Given the description of an element on the screen output the (x, y) to click on. 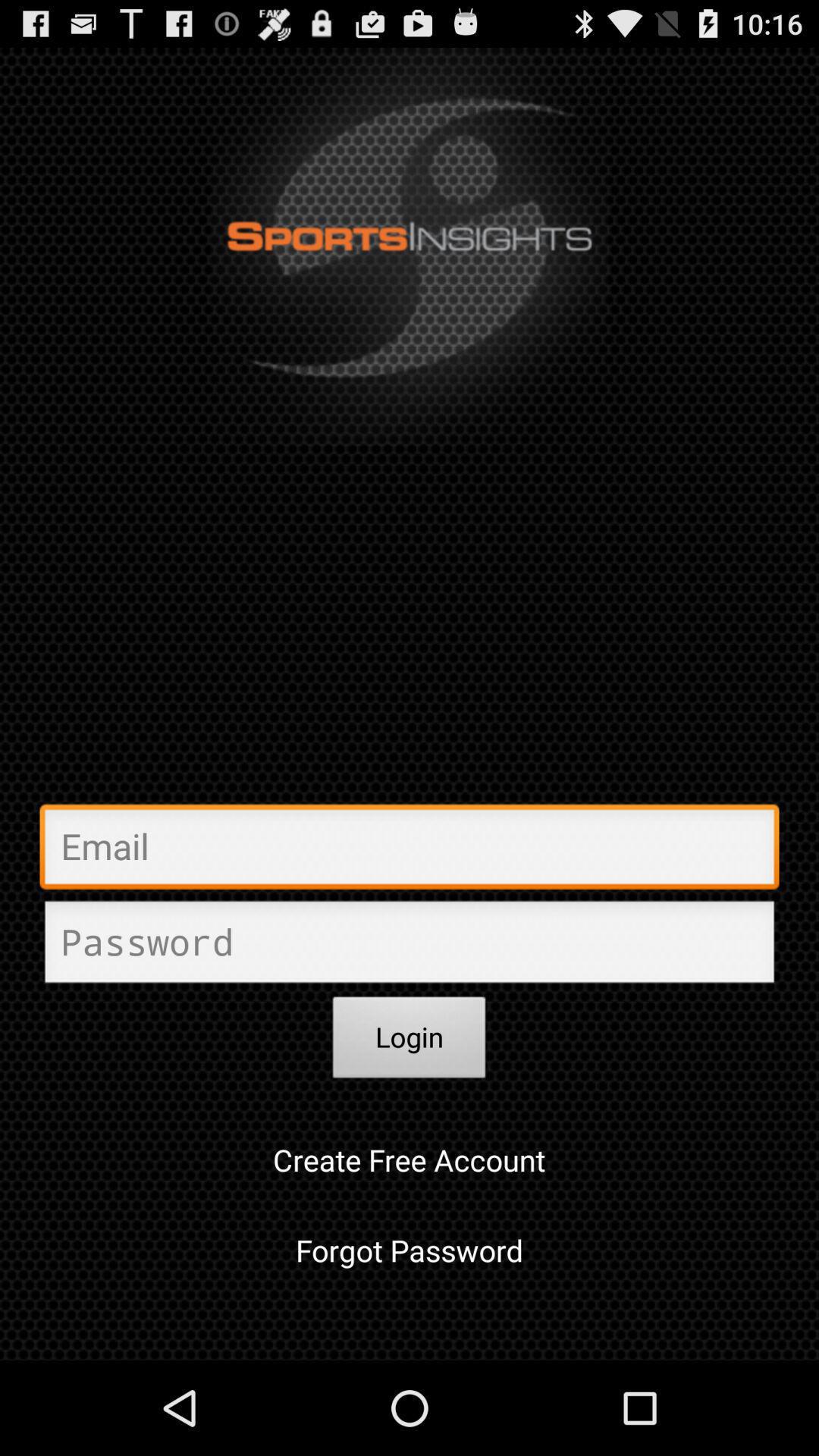
enter email (409, 850)
